Given the description of an element on the screen output the (x, y) to click on. 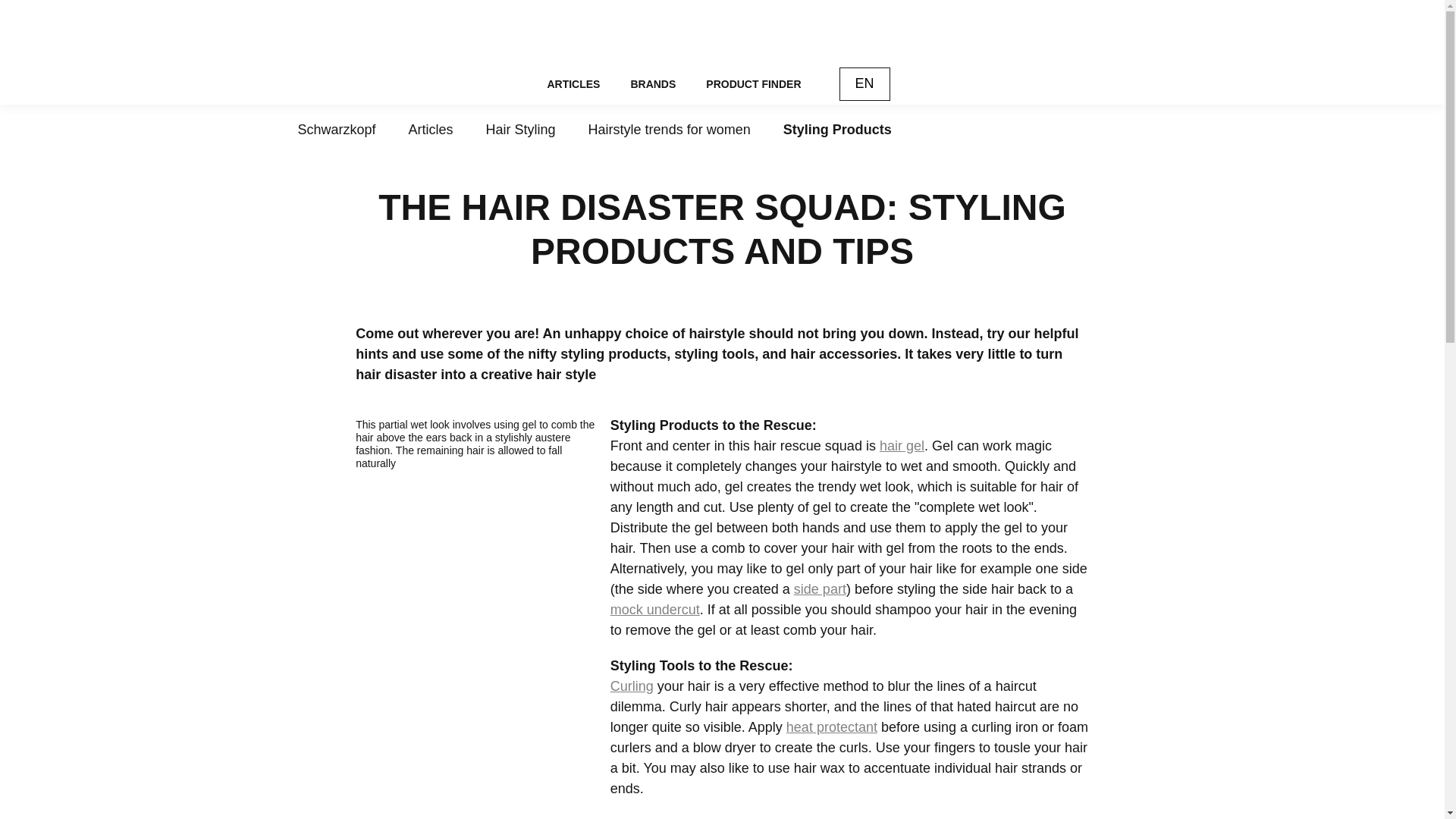
heat protectant (831, 726)
Schwarzkopf (336, 129)
PRODUCT FINDER (752, 83)
mock undercut (655, 609)
hair gel (901, 445)
Articles (430, 129)
Hairstyle trends for women (669, 129)
Curling (631, 685)
BRANDS (652, 83)
ARTICLES (580, 83)
Hair Styling (521, 129)
side part (819, 589)
EN (864, 83)
